Given the description of an element on the screen output the (x, y) to click on. 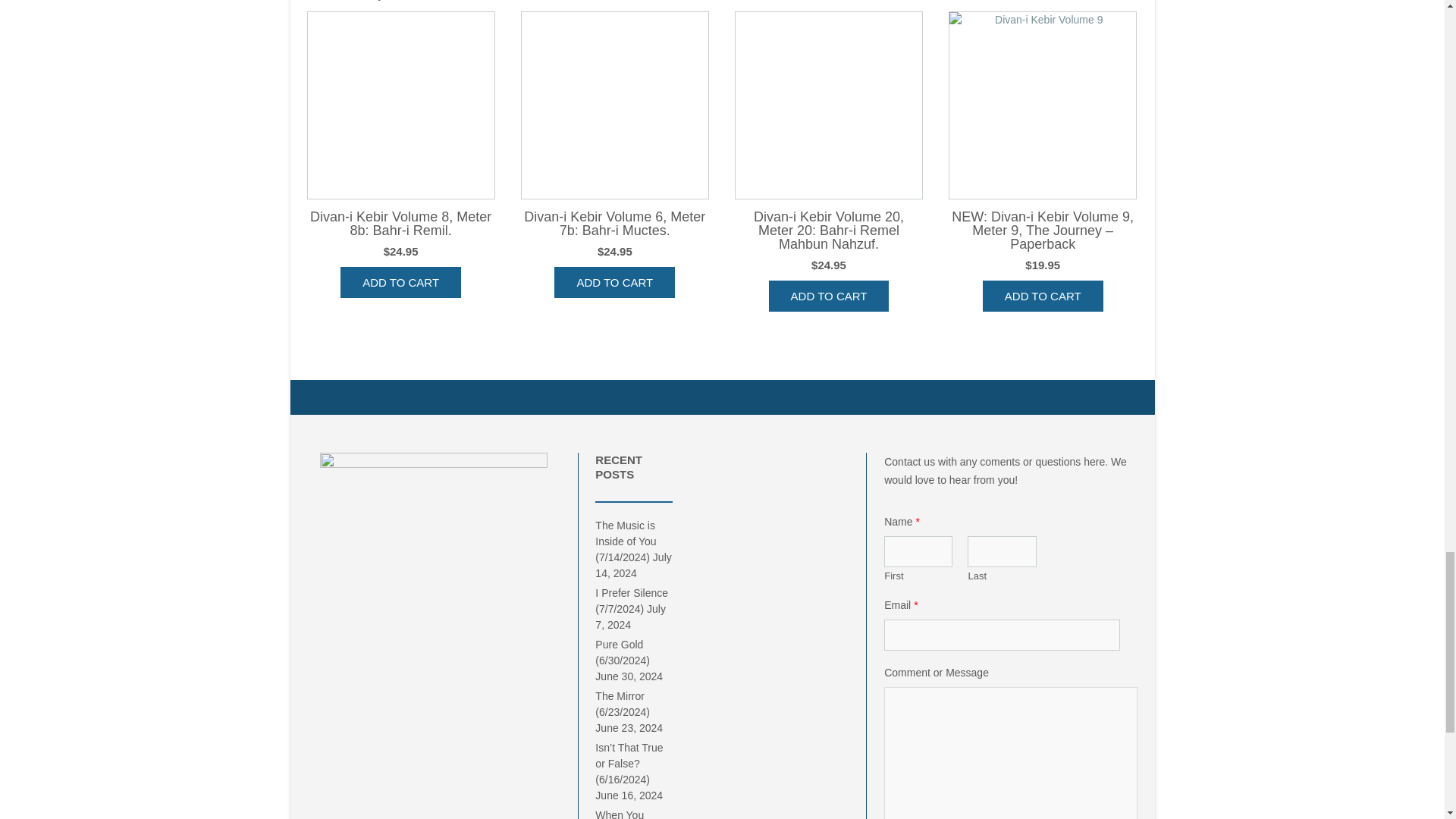
ADD TO CART (400, 282)
ADD TO CART (828, 296)
ADD TO CART (614, 282)
